Given the description of an element on the screen output the (x, y) to click on. 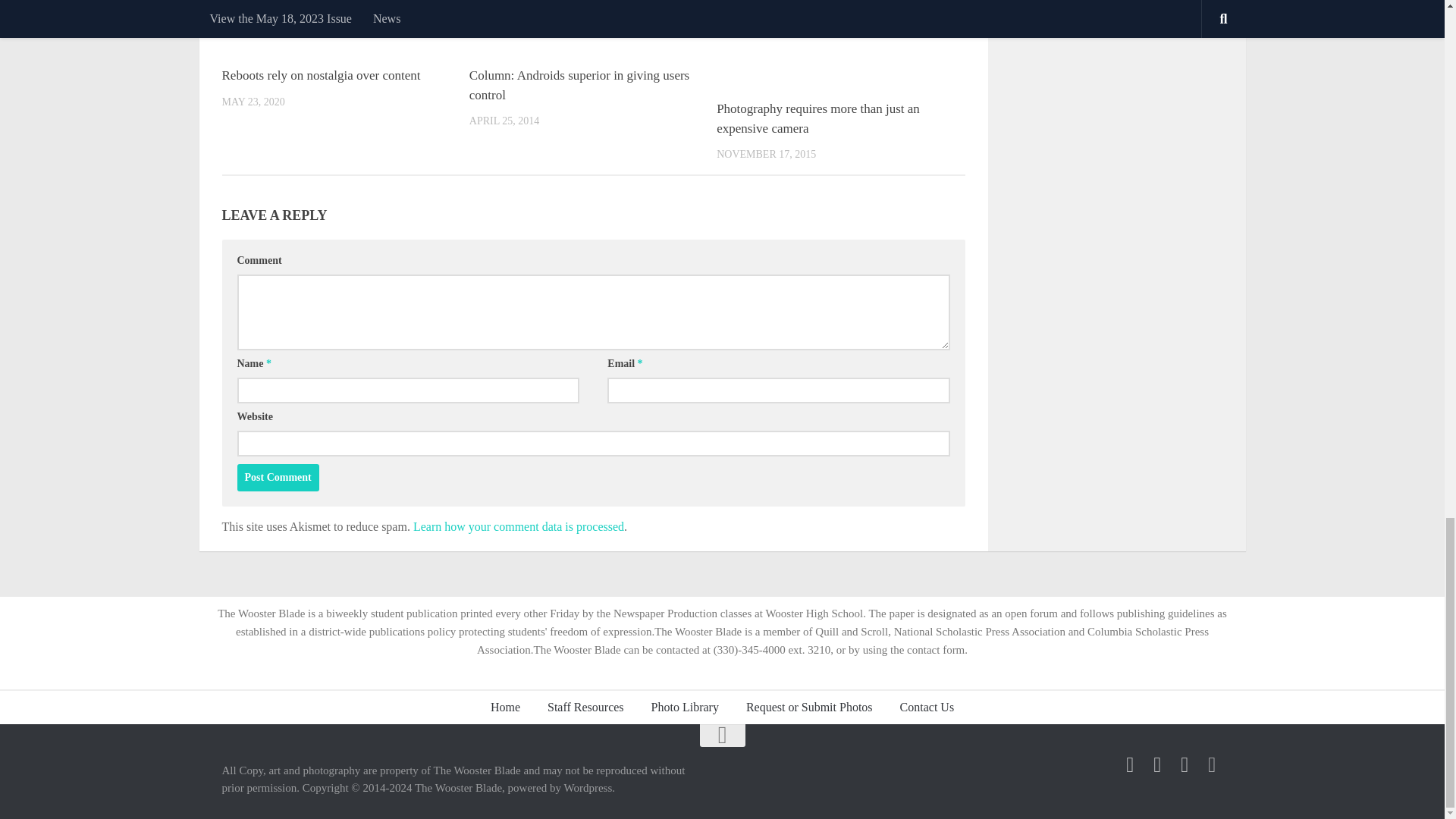
Reboots rely on nostalgia over content (320, 74)
Post Comment (276, 477)
Follow us on Pinterest (1184, 764)
Follow us on Facebook (1129, 764)
Column: Androids superior in giving users control (578, 84)
Learn how your comment data is processed (518, 526)
Post Comment (276, 477)
Follow us on Twitter (1157, 764)
Photography requires more than just an expensive camera (818, 118)
Permalink to Reboots rely on nostalgia over content (320, 74)
